Given the description of an element on the screen output the (x, y) to click on. 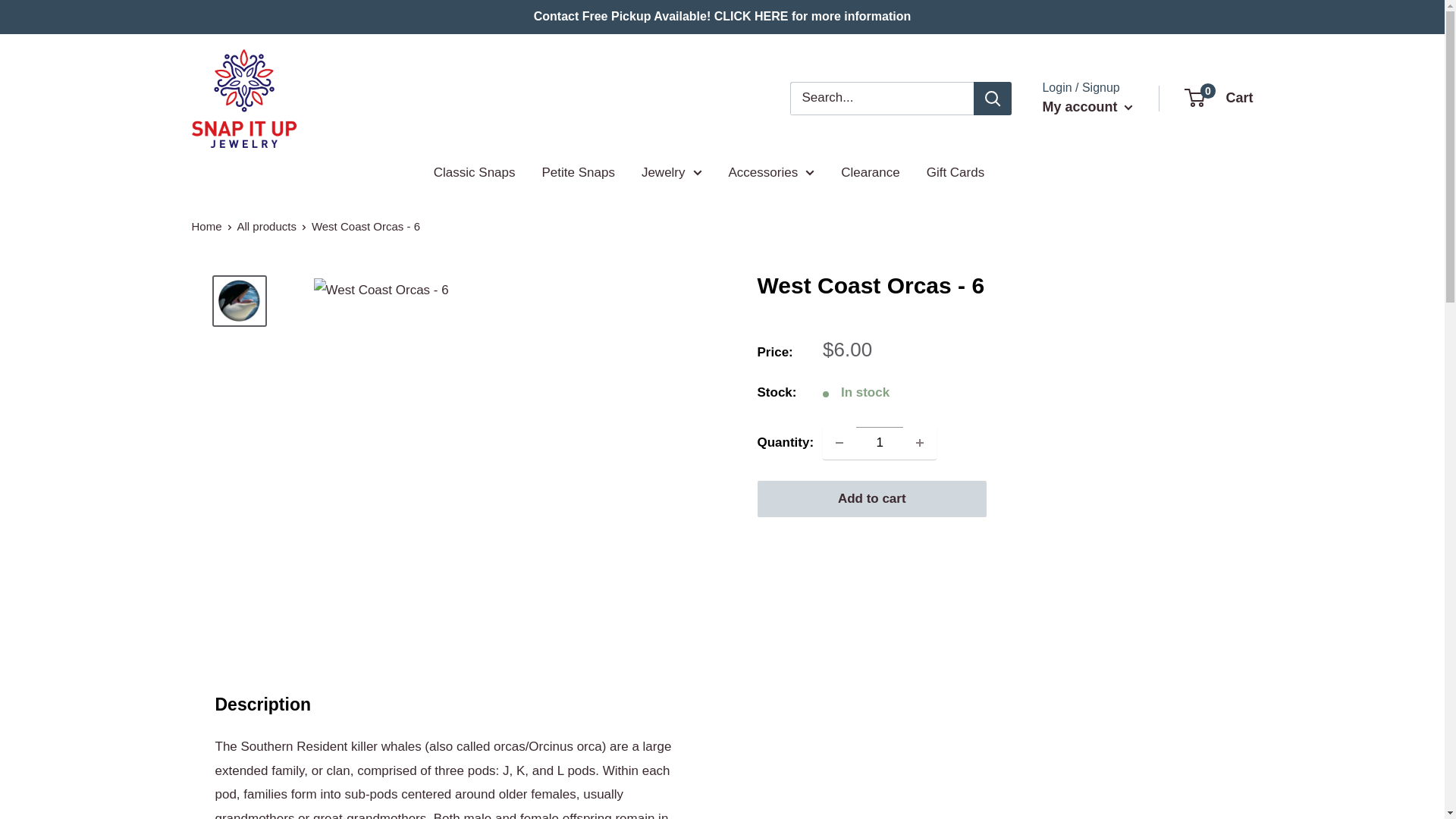
Decrease quantity by 1 (840, 442)
1 (880, 442)
Increase quantity by 1 (920, 442)
